Given the description of an element on the screen output the (x, y) to click on. 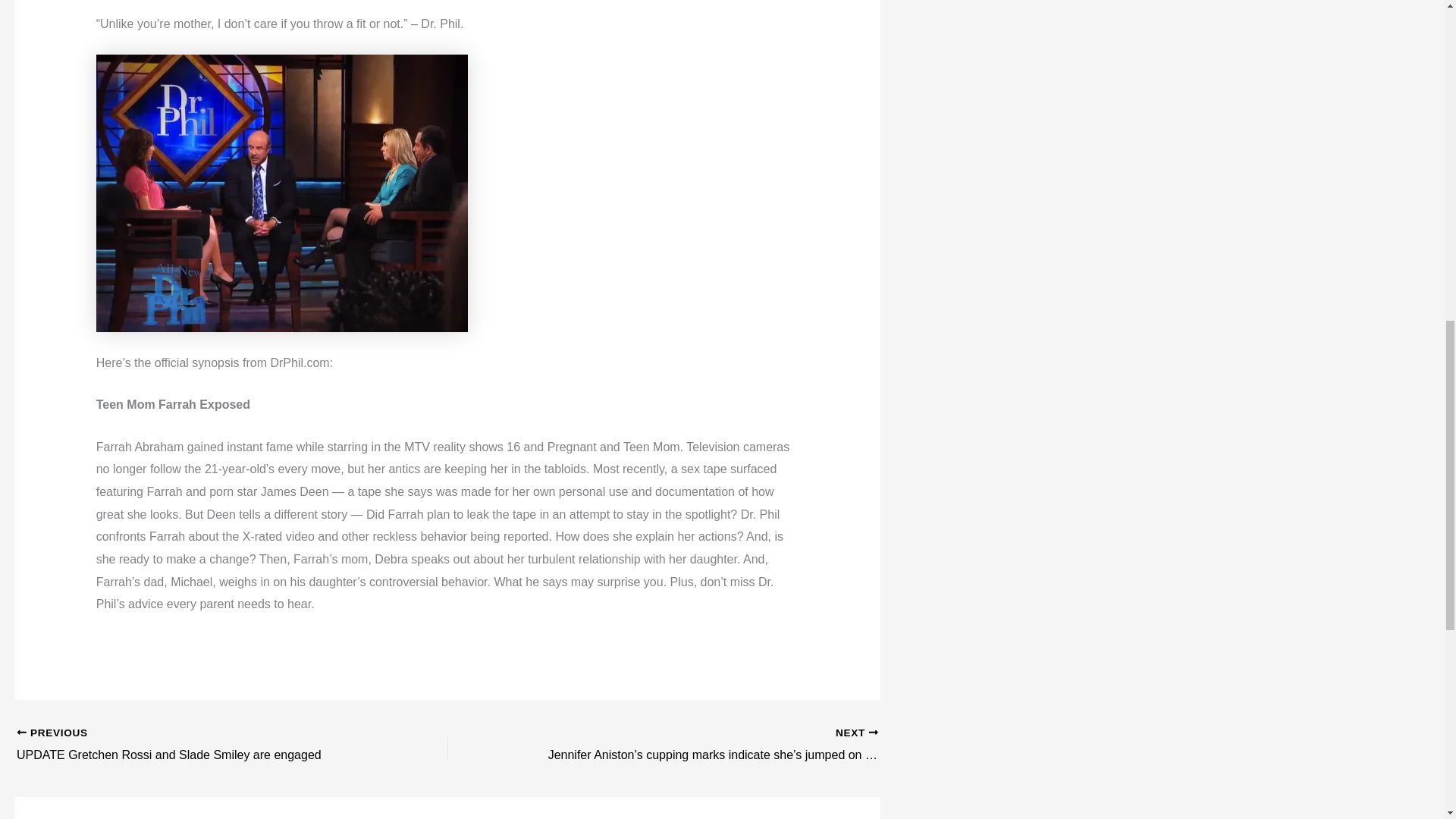
Farrah Abraham Debra Michael Dr. Phil (281, 193)
UPDATE Gretchen Rossi and Slade Smiley are engaged (189, 744)
